Given the description of an element on the screen output the (x, y) to click on. 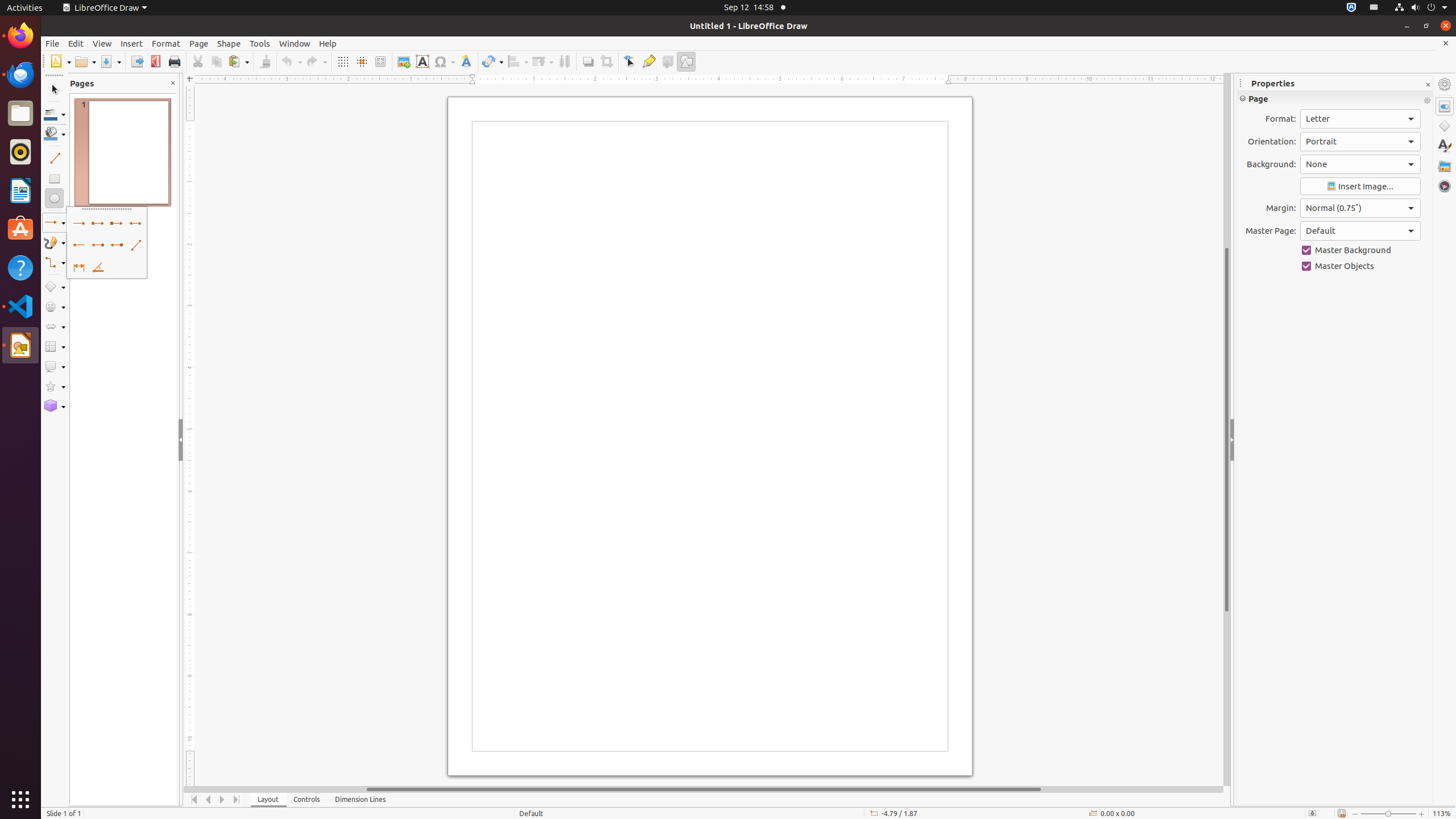
Vertical Ruler Element type: ruler (190, 436)
Edit Points Element type: push-button (629, 61)
Controls Element type: page-tab (307, 799)
PDF Element type: push-button (155, 61)
Transformations Element type: push-button (492, 61)
